Given the description of an element on the screen output the (x, y) to click on. 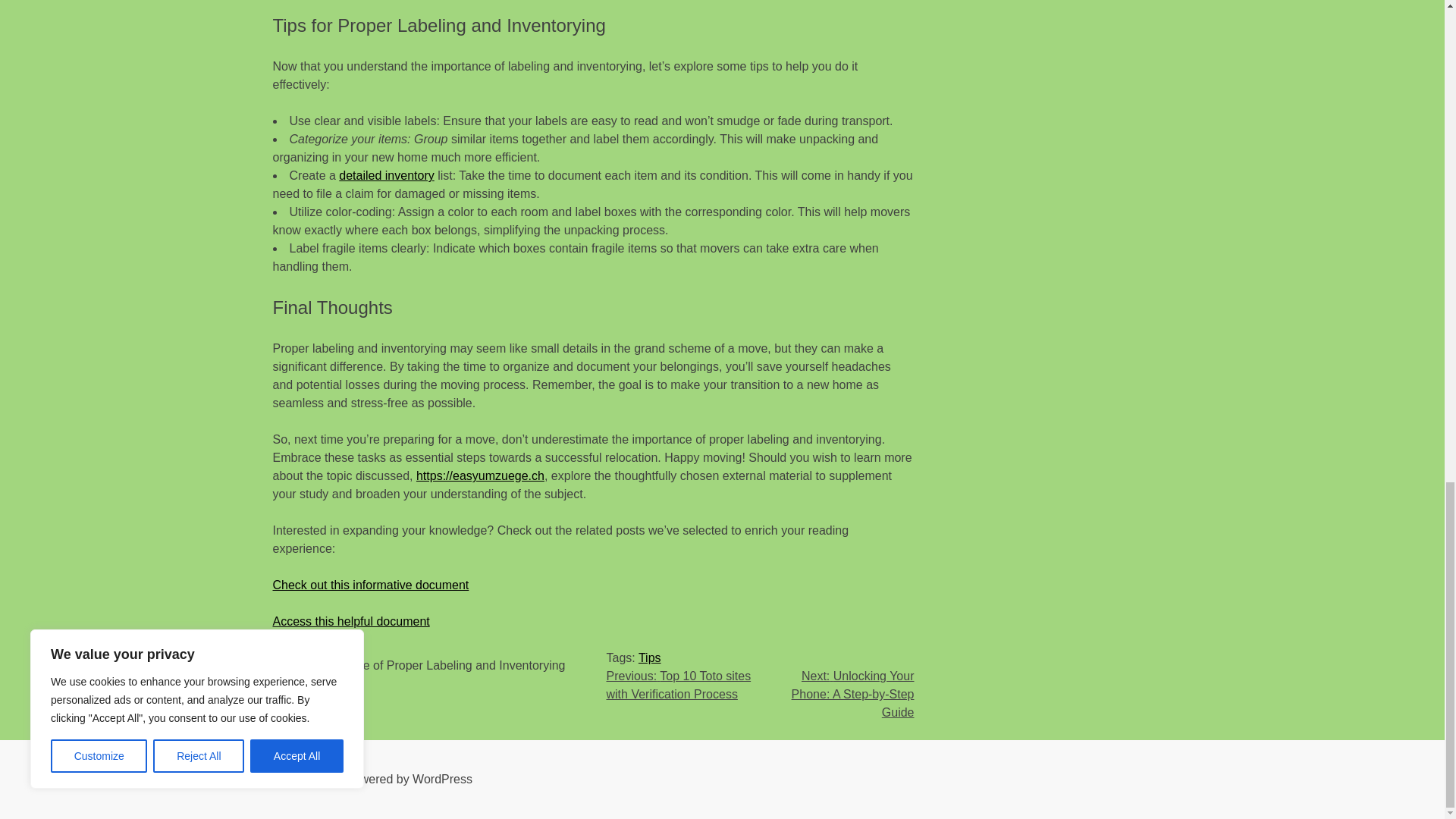
Check out this informative document (370, 584)
Previous: Top 10 Toto sites with Verification Process (679, 685)
detailed inventory (386, 174)
Next: Unlocking Your Phone: A Step-by-Step Guide (853, 694)
Tips (650, 657)
Access this helpful document (351, 621)
